Given the description of an element on the screen output the (x, y) to click on. 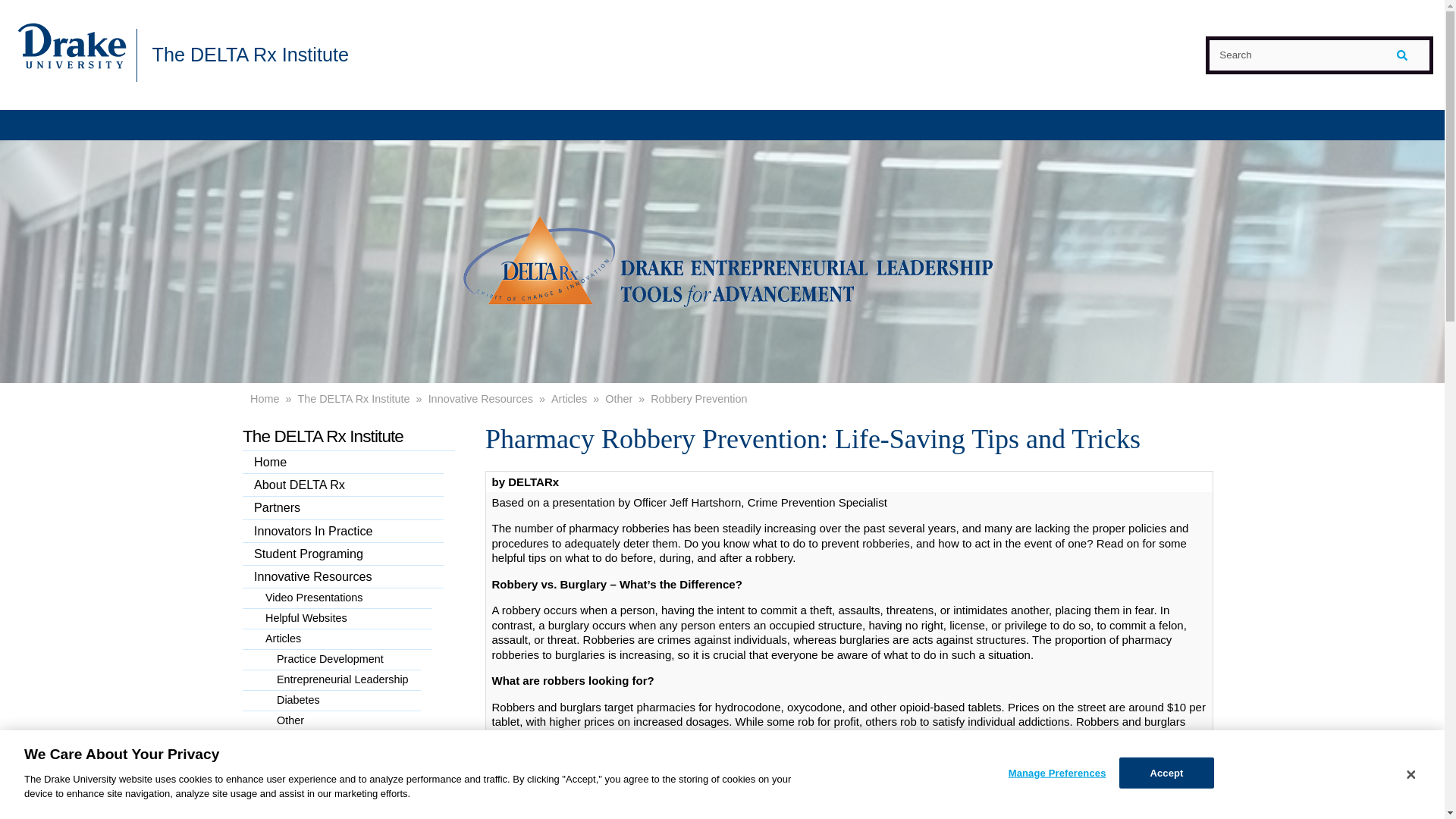
Search (1318, 55)
The DELTA Rx Institute (249, 54)
Search (1318, 55)
